Given the description of an element on the screen output the (x, y) to click on. 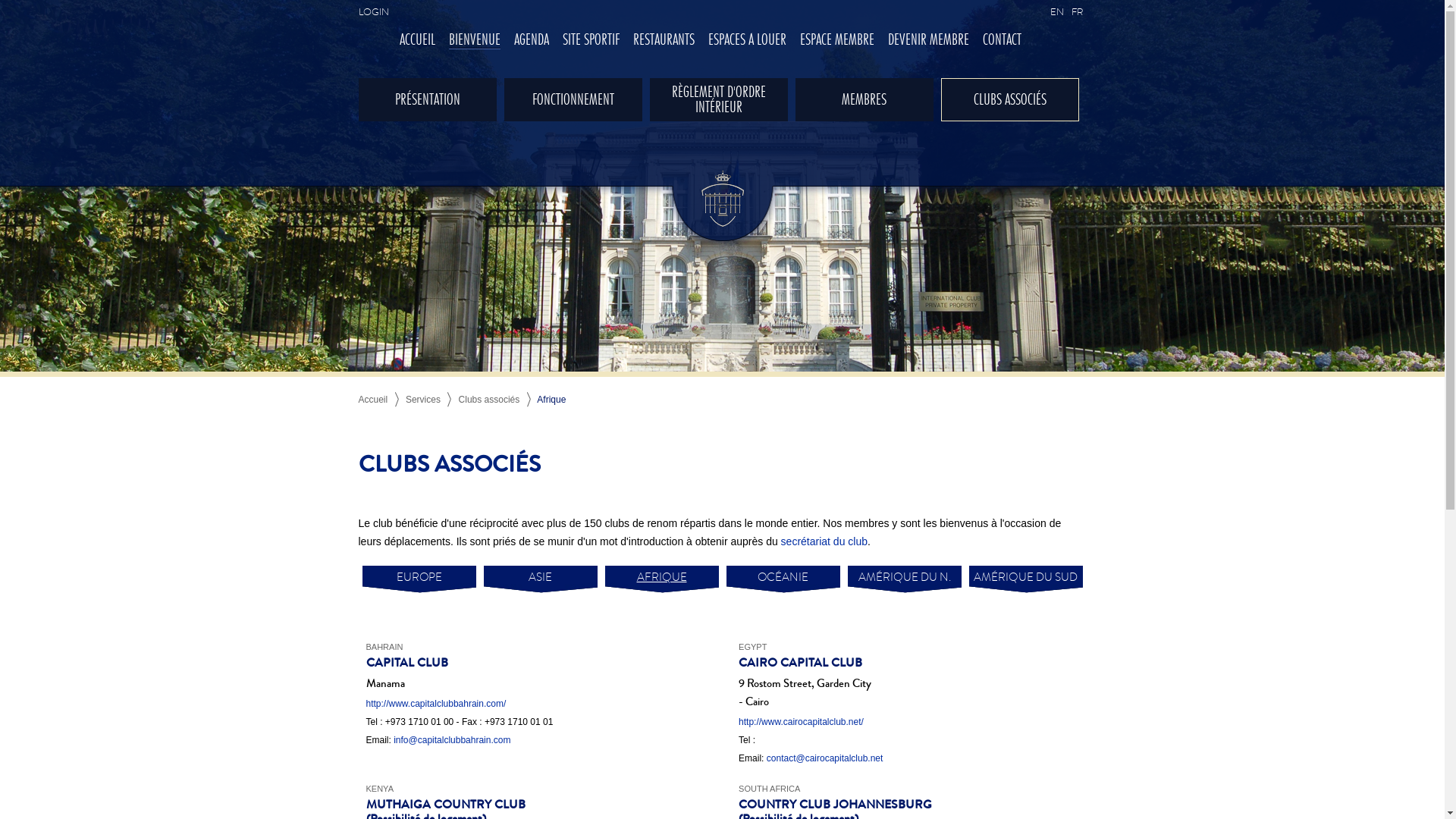
http://www.capitalclubbahrain.com/ Element type: text (435, 703)
ACCUEIL Element type: text (416, 40)
ASIE Element type: text (539, 585)
FR Element type: text (1076, 11)
EN Element type: text (1056, 11)
AGENDA Element type: text (531, 40)
Services Element type: text (422, 399)
info@capitalclubbahrain.com Element type: text (451, 739)
BIENVENUE Element type: text (474, 40)
CONTACT Element type: text (1001, 40)
SITE SPORTIF Element type: text (590, 40)
http://www.cairocapitalclub.net/ Element type: text (800, 721)
LOGIN Element type: text (372, 11)
RESTAURANTS Element type: text (662, 40)
AFRIQUE Element type: text (660, 585)
CAPITAL CLUB Element type: text (406, 662)
FONCTIONNEMENT Element type: text (572, 99)
ESPACE MEMBRE Element type: text (836, 40)
MEMBRES Element type: text (863, 99)
CAIRO CAPITAL CLUB Element type: text (800, 662)
DEVENIR MEMBRE Element type: text (927, 40)
contact@cairocapitalclub.net Element type: text (824, 758)
EUROPE Element type: text (418, 585)
Accueil Element type: text (372, 399)
